Given the description of an element on the screen output the (x, y) to click on. 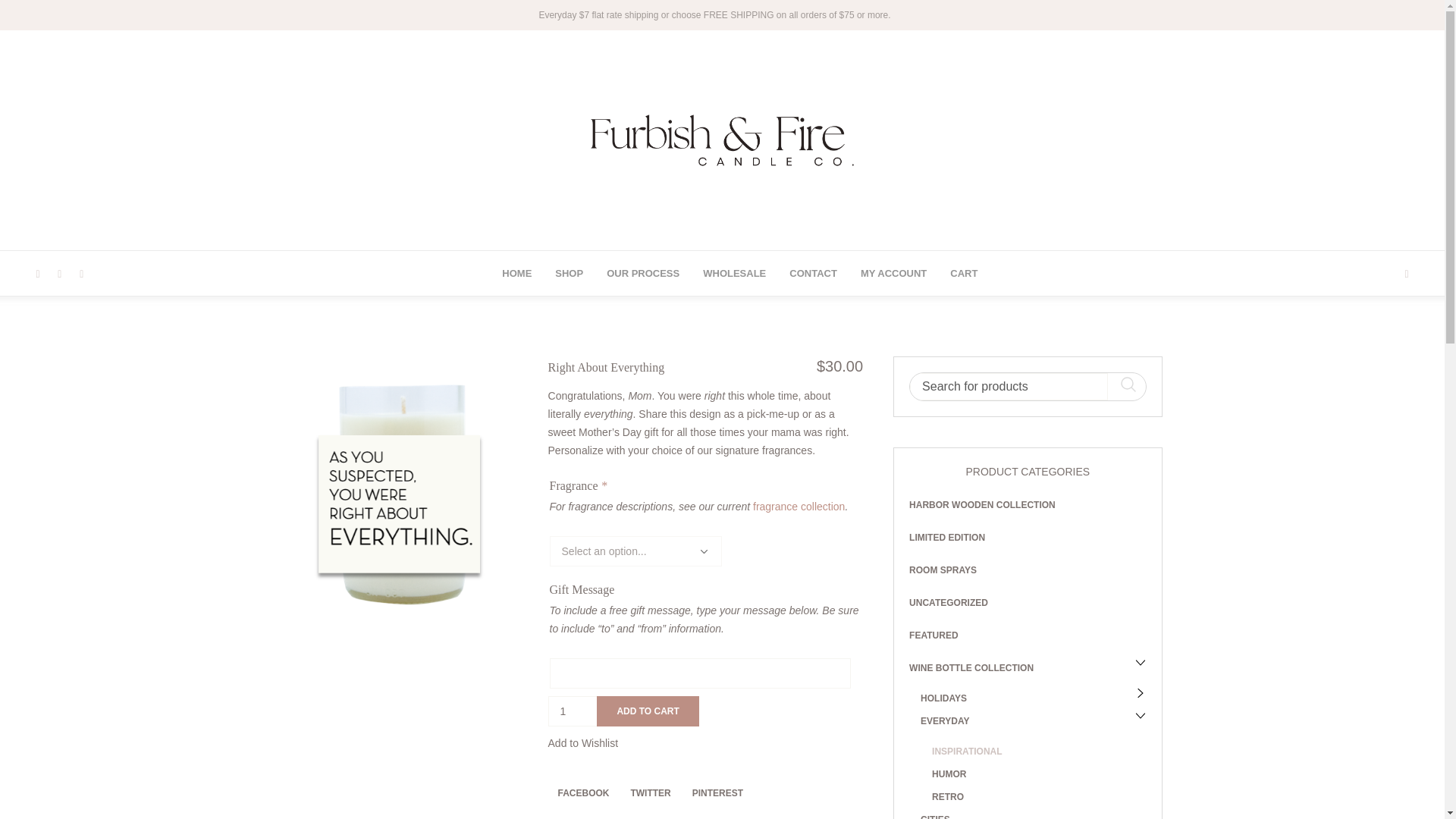
CONTACT (812, 272)
SHOP (568, 272)
HOME (516, 272)
1 (572, 711)
CART (963, 272)
Instagram (37, 273)
fragrance collection (798, 506)
OUR PROCESS (642, 272)
Facebook (59, 273)
MY ACCOUNT (892, 272)
WHOLESALE (734, 272)
Mail (81, 273)
